Given the description of an element on the screen output the (x, y) to click on. 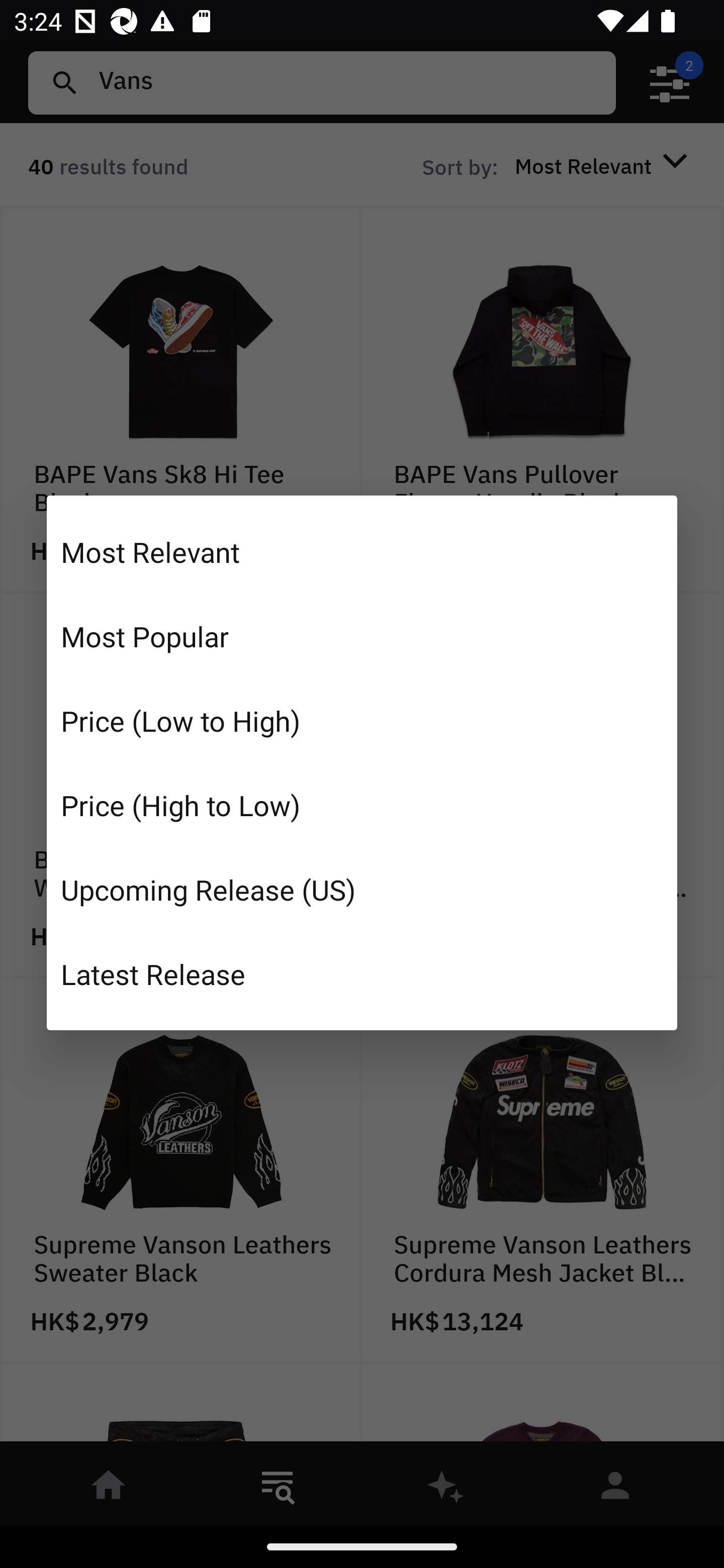
Most Relevant (361, 551)
Most Popular (361, 636)
Price (Low to High) (361, 720)
Price (High to Low) (361, 804)
Upcoming Release (US) (361, 888)
Latest Release (361, 973)
